Given the description of an element on the screen output the (x, y) to click on. 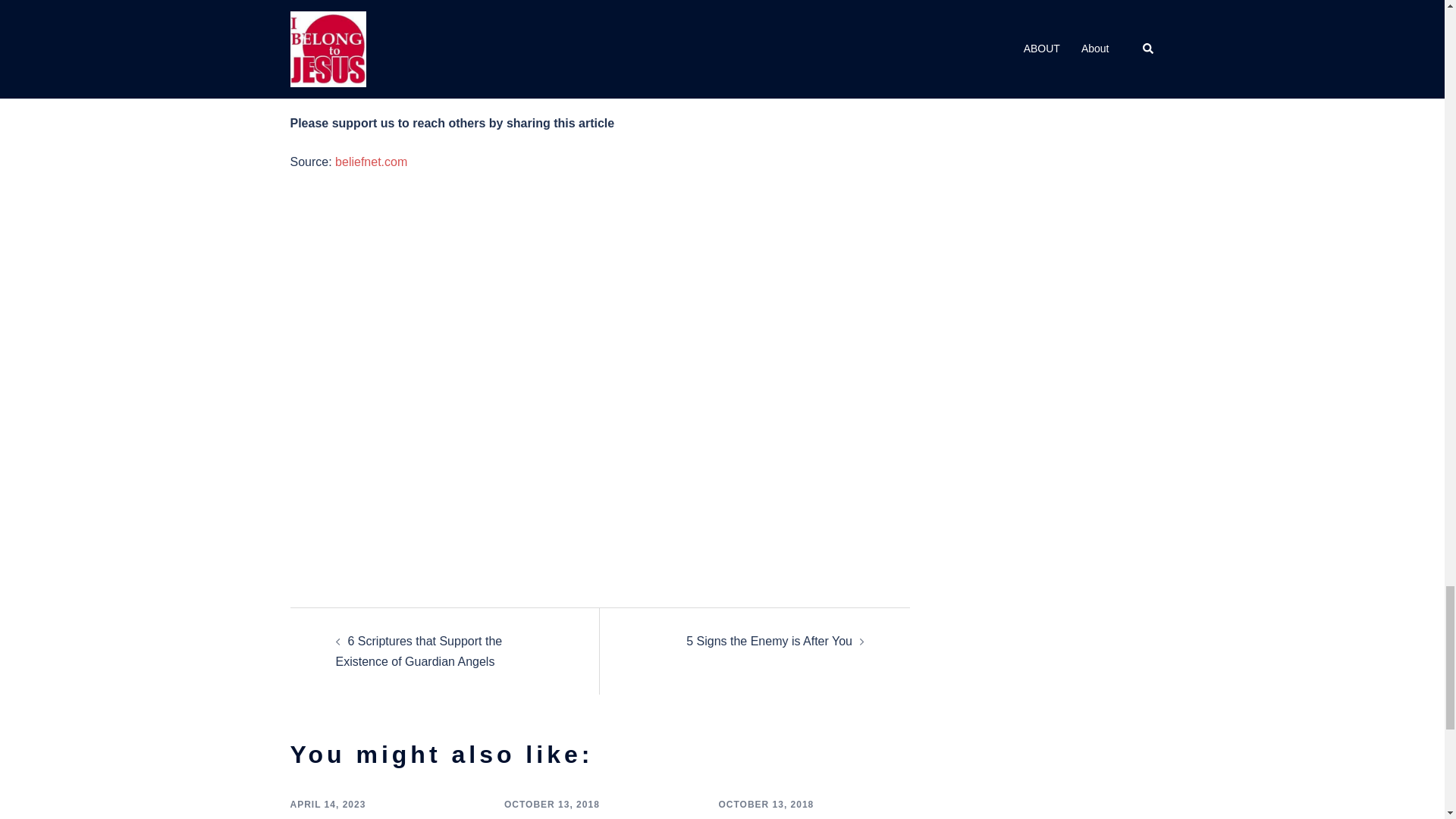
beliefnet.com (370, 161)
5 Signs the Enemy is After You (768, 640)
APRIL 14, 2023 (327, 804)
6 Roles of the Holy Spirit in the Christian Life (590, 817)
6 Scriptures that Support the Existence of Guardian Angels (418, 651)
5 Ways to Distinguish a True Christian from a Hypocrite (805, 817)
OCTOBER 13, 2018 (765, 804)
7 Strategies To Tackle Spiritual Fatigue (382, 817)
OCTOBER 13, 2018 (551, 804)
